Given the description of an element on the screen output the (x, y) to click on. 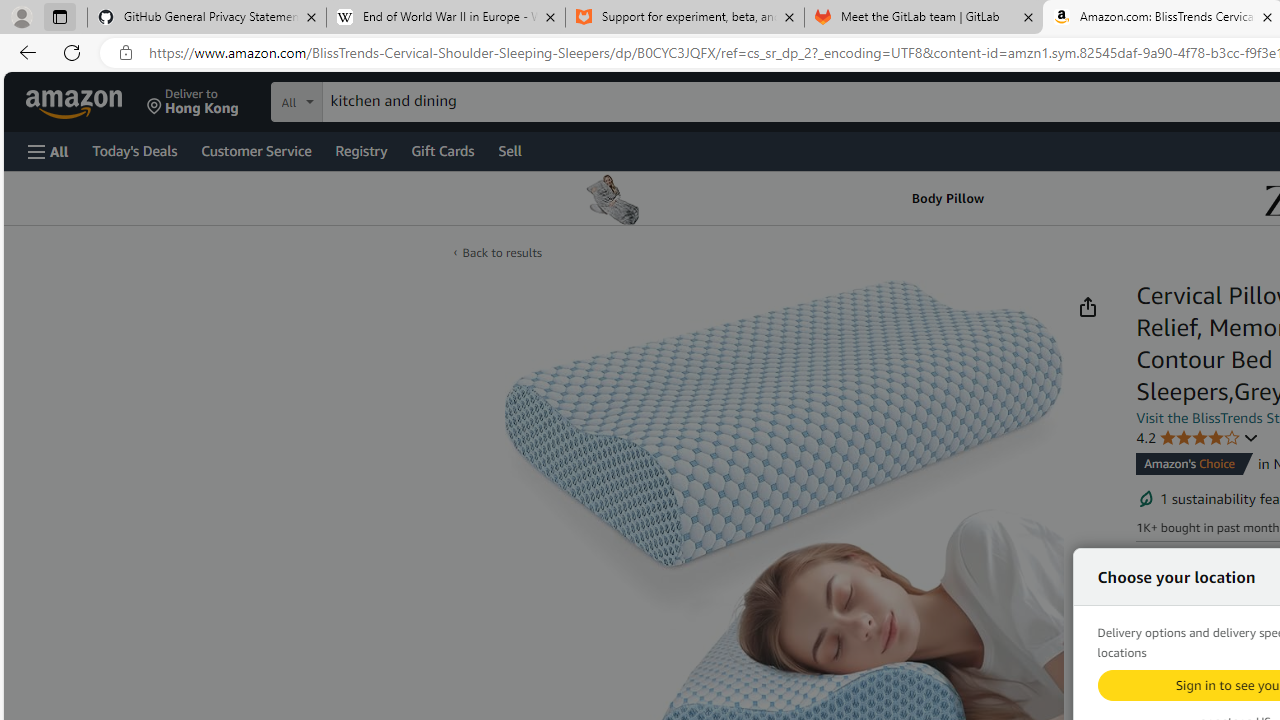
Search in (371, 99)
Gift Cards (442, 150)
End of World War II in Europe - Wikipedia (445, 17)
4.2 4.2 out of 5 stars (1197, 437)
Registry (360, 150)
Back to results (501, 252)
Sustainability features (1146, 498)
Apply 20% coupon Shop items | Terms (1225, 681)
Meet the GitLab team | GitLab (924, 17)
Back to results (501, 251)
Open Menu (48, 151)
